Given the description of an element on the screen output the (x, y) to click on. 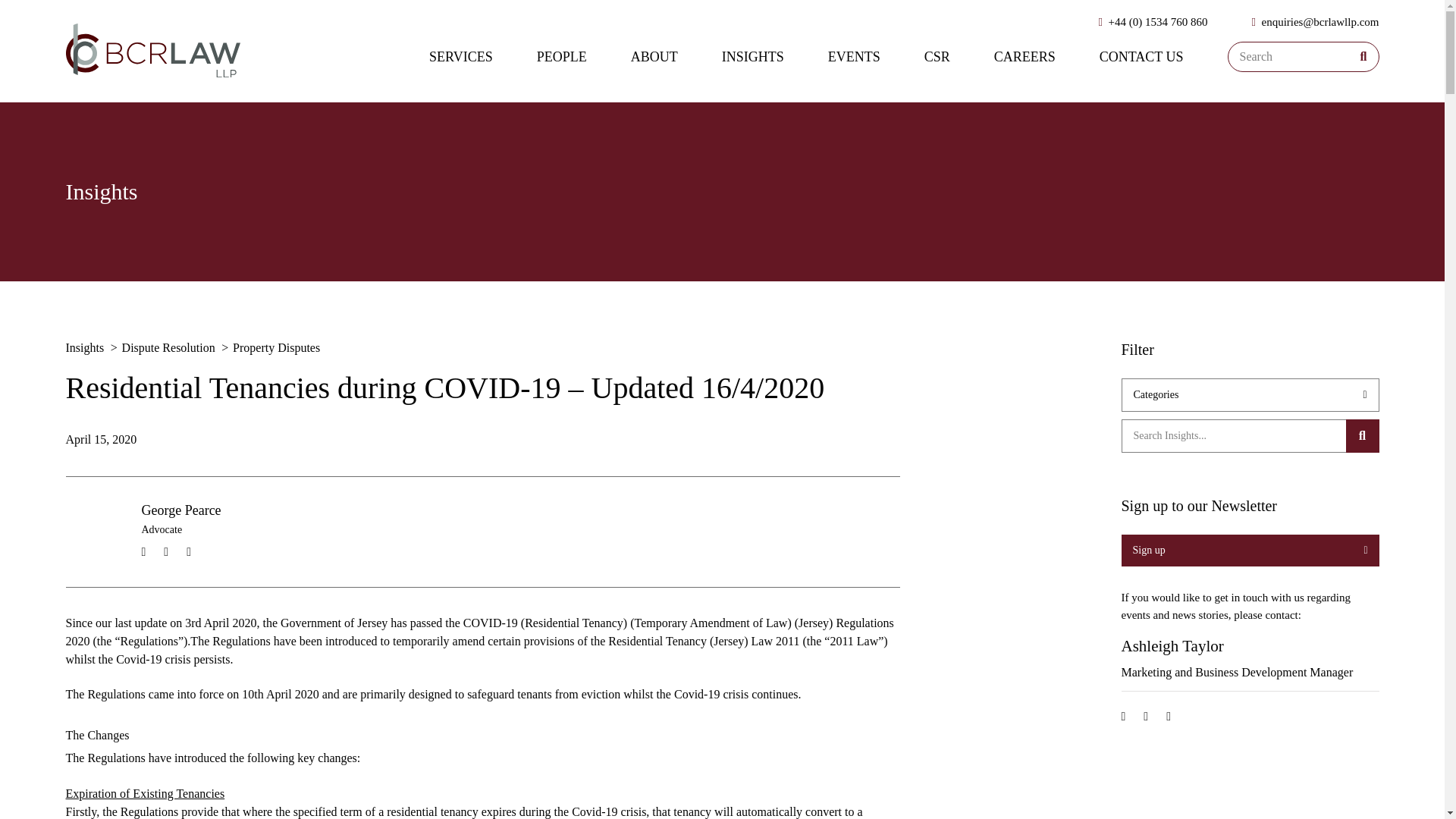
Go to Insights. (85, 347)
Go to the Property Disputes category archives. (276, 347)
Go to the Dispute Resolution category archives. (169, 347)
SERVICES (461, 56)
